Given the description of an element on the screen output the (x, y) to click on. 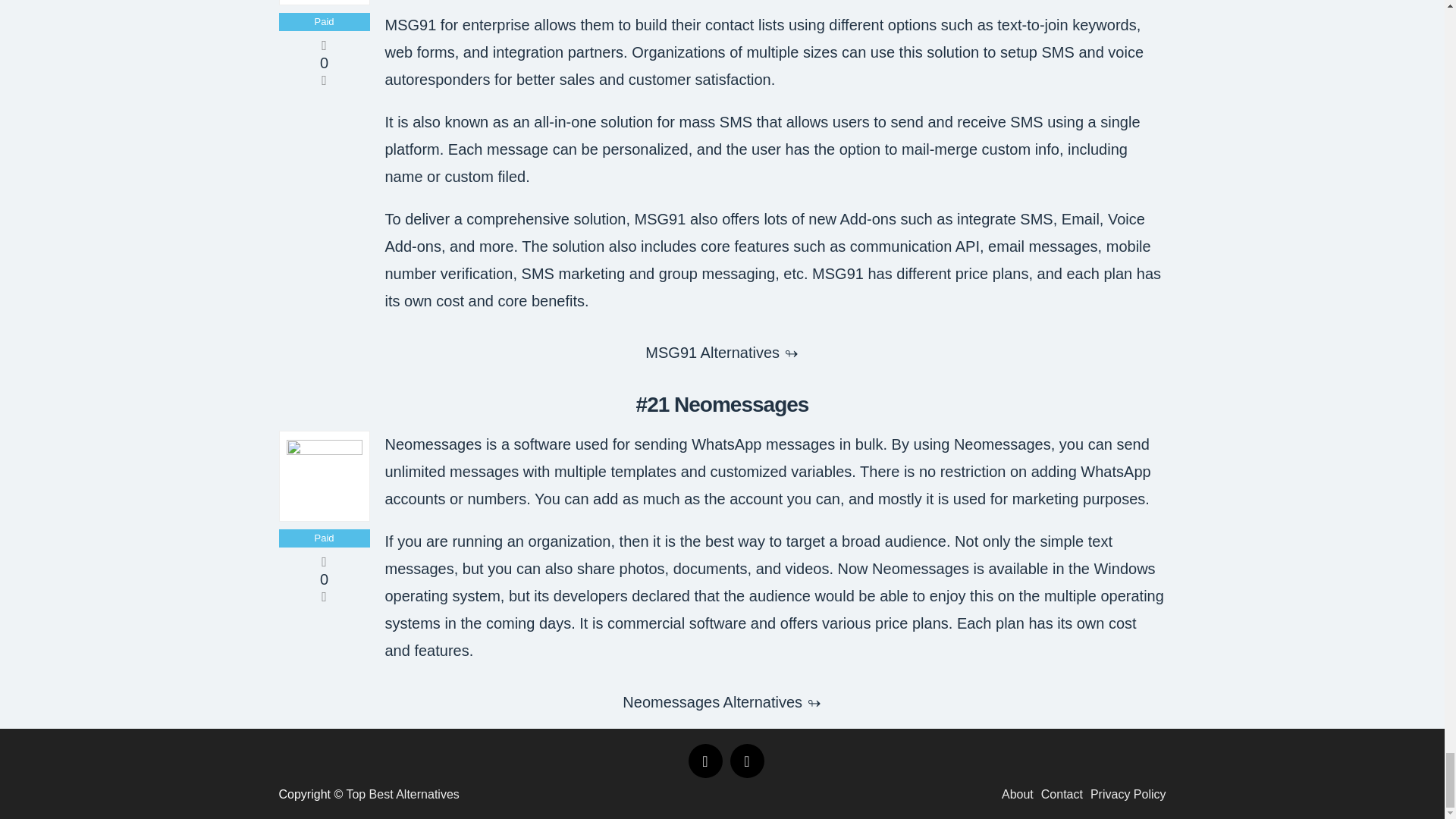
Twitter (745, 760)
Facebook (705, 760)
